Given the description of an element on the screen output the (x, y) to click on. 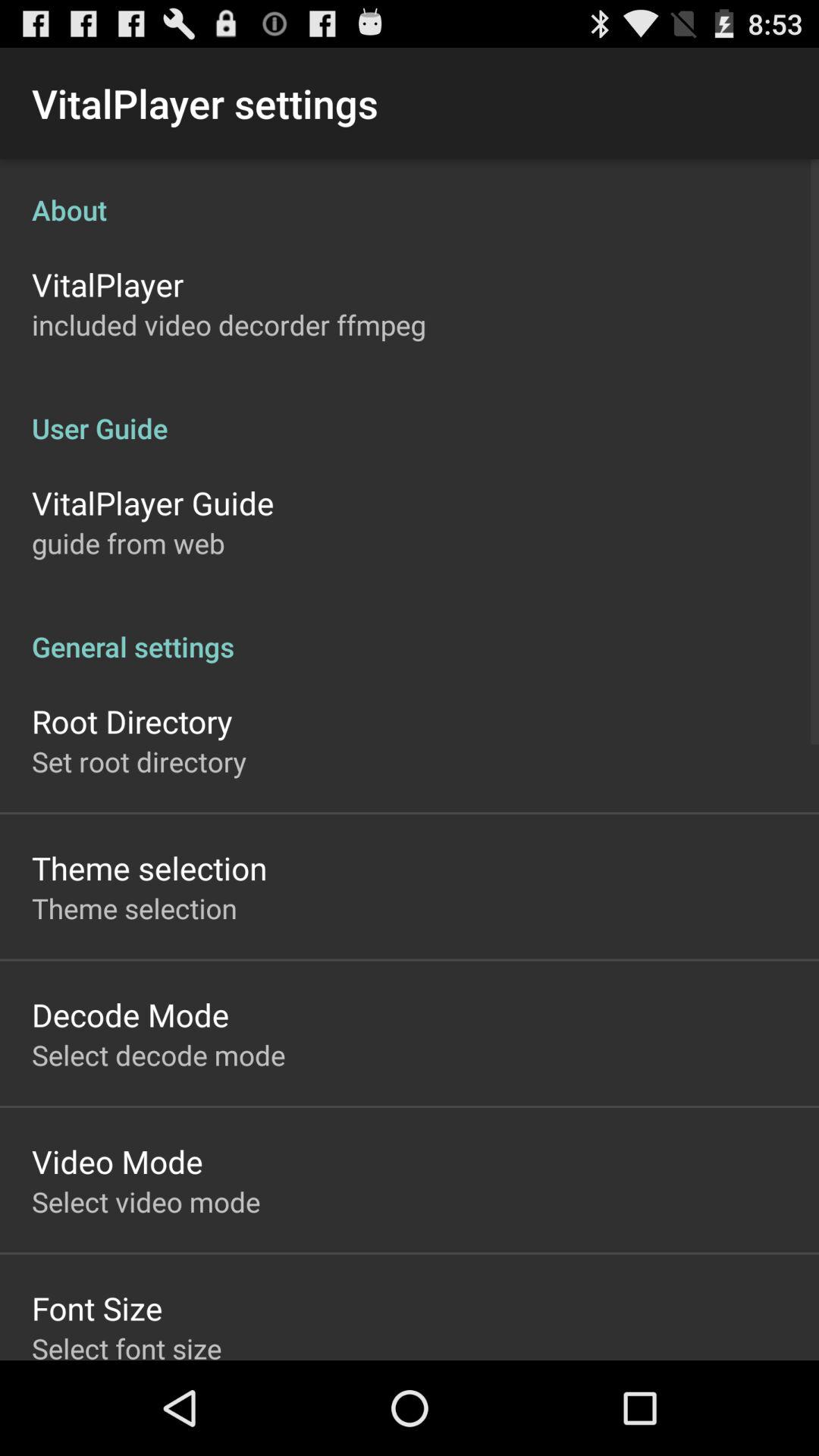
scroll until the guide from web app (127, 542)
